Given the description of an element on the screen output the (x, y) to click on. 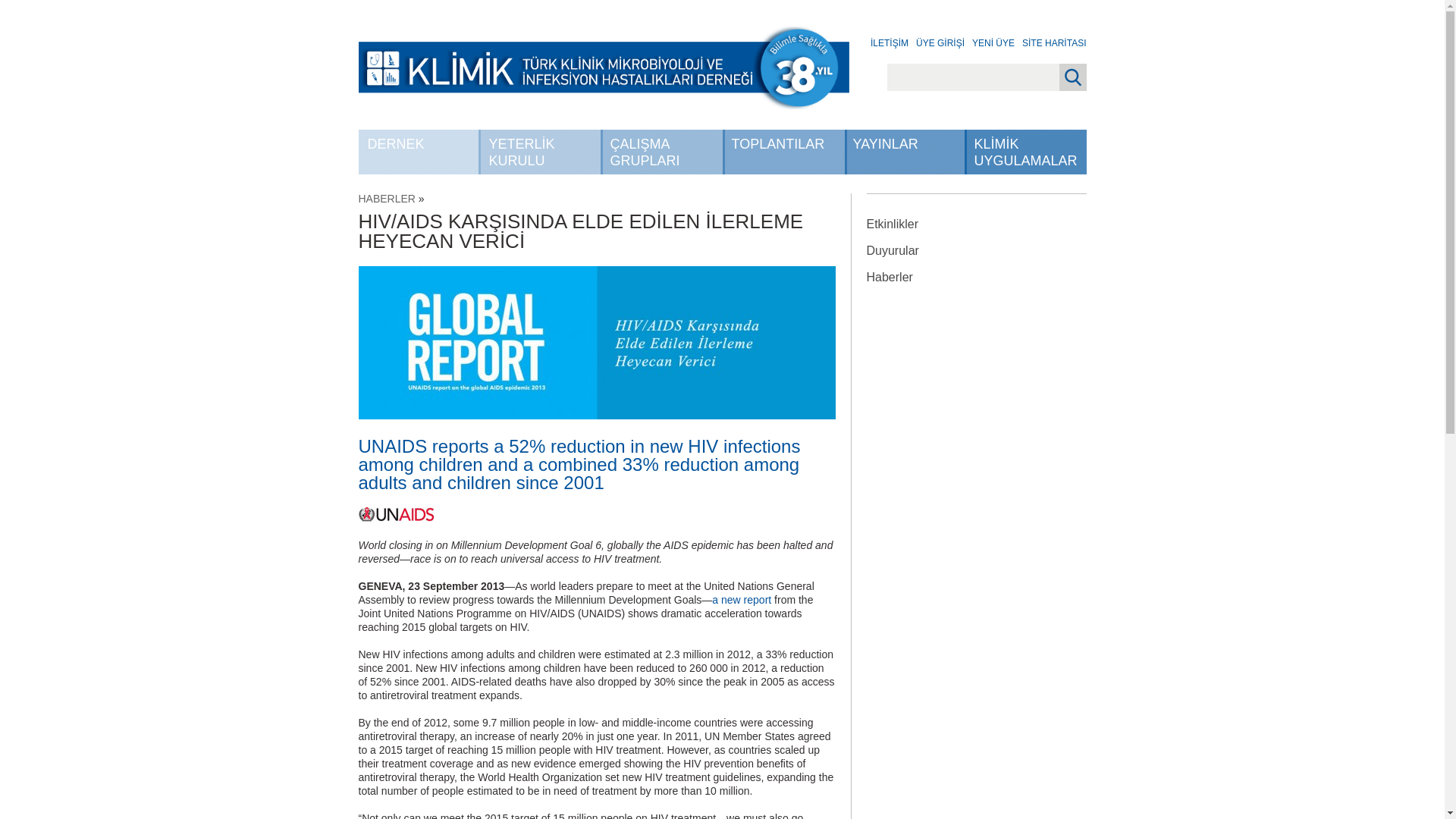
UNAIDS logo (395, 513)
DERNEK (419, 151)
Ara (1072, 76)
